Given the description of an element on the screen output the (x, y) to click on. 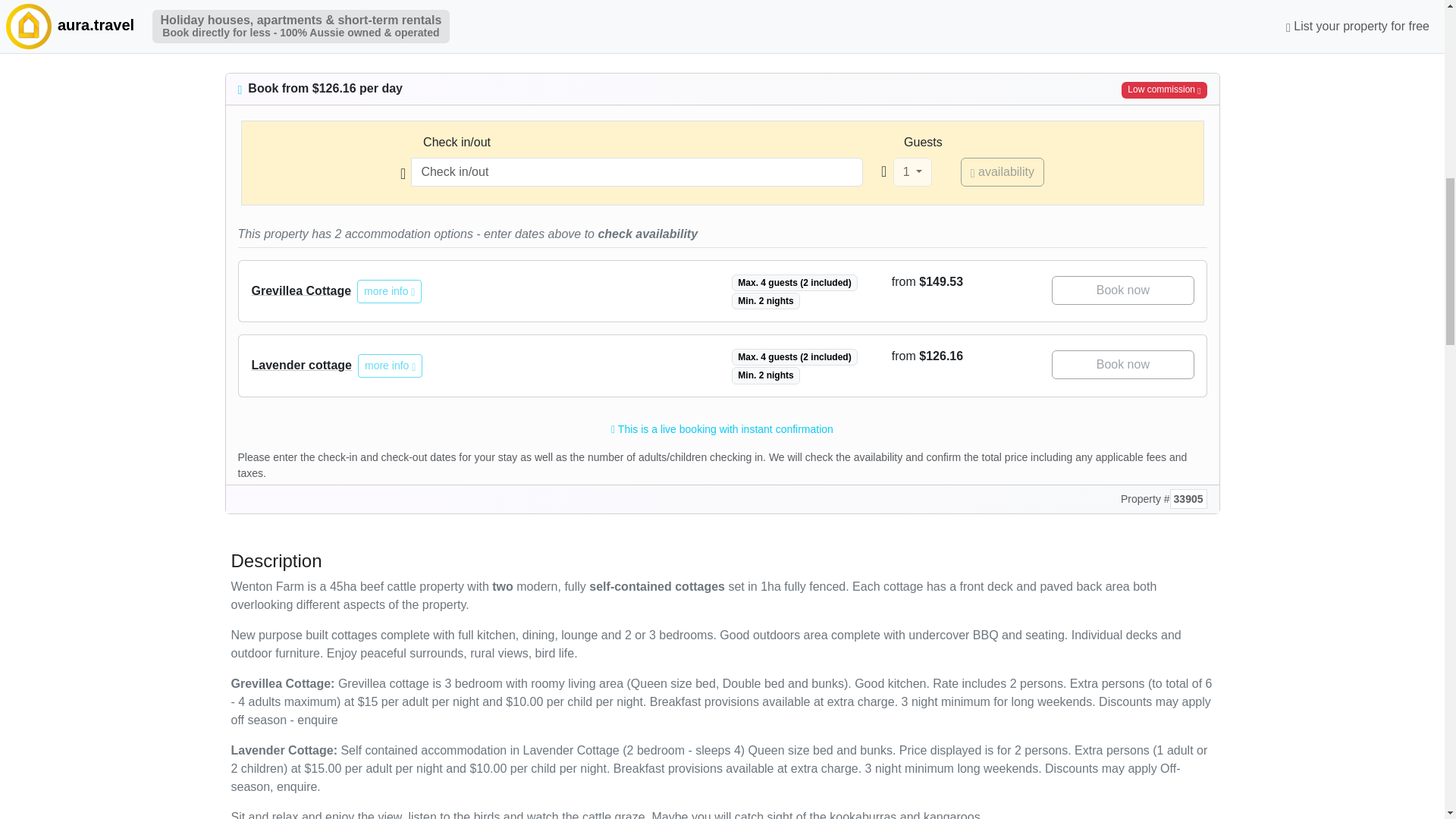
Lavender cottagemore info (336, 365)
1 (912, 172)
BOOKING (321, 33)
more info (389, 291)
more info (390, 365)
availability (1001, 172)
Book now (1122, 364)
INFO (371, 33)
Low commission (1164, 89)
Grevillea Cottagemore info (336, 291)
MAP (407, 33)
PHOTOS (259, 33)
REVIEWS (455, 33)
Book now (1122, 290)
